Given the description of an element on the screen output the (x, y) to click on. 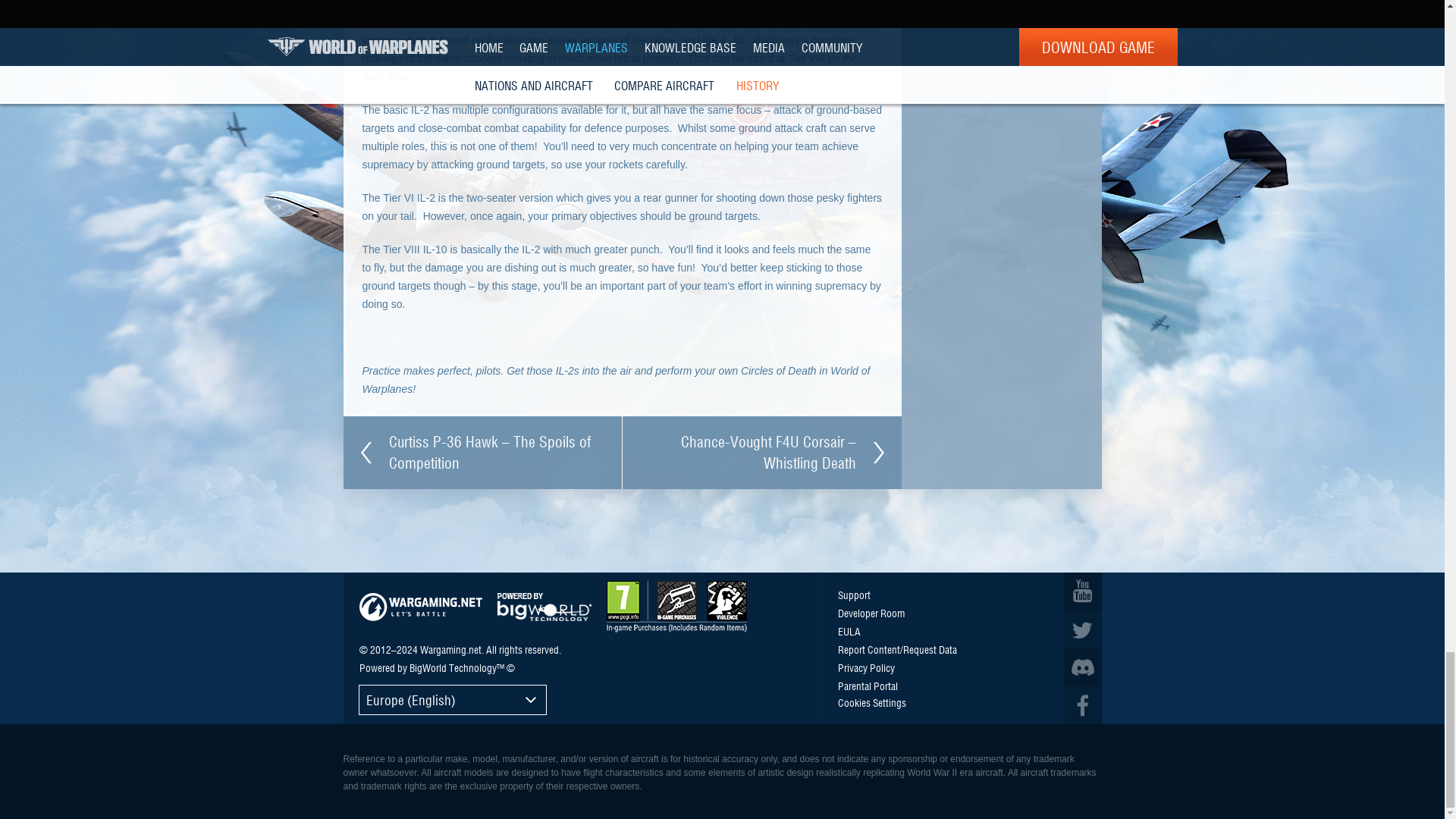
Official World of Warplanes video channel (1081, 591)
World of Warplanes on Twitter (1081, 629)
pegi (676, 606)
wargaming.net (420, 606)
World of Warplanes community on Discord (1081, 667)
World of Warplanes community on Facebook (1081, 704)
bigworldtech.com (544, 606)
